Given the description of an element on the screen output the (x, y) to click on. 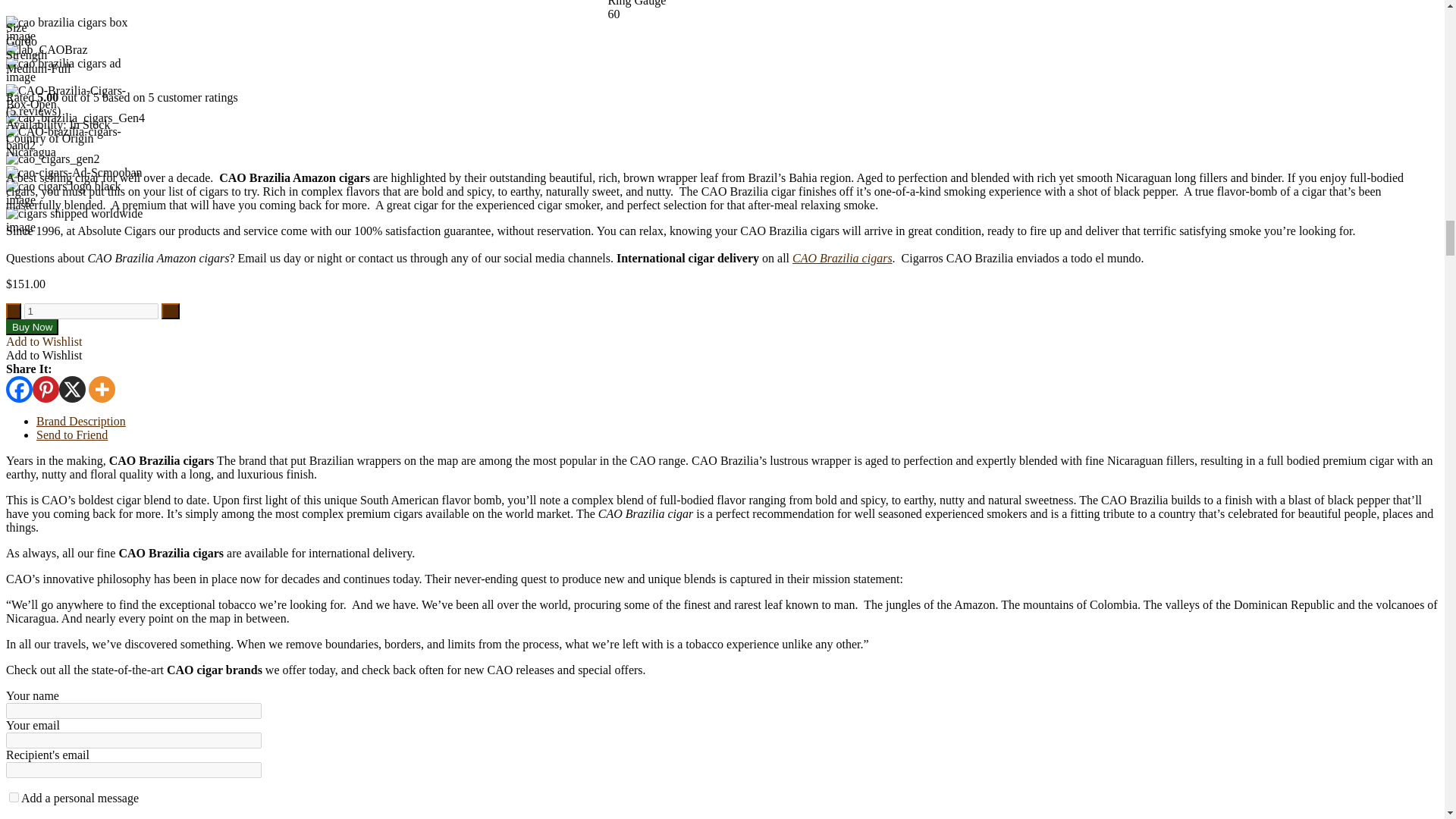
- (13, 311)
Add a personal message (13, 797)
cao-brazilia-cigars-box-use-approved (76, 29)
1 (91, 311)
cao-brazilia-cigars-ad-use-approved (76, 70)
